Given the description of an element on the screen output the (x, y) to click on. 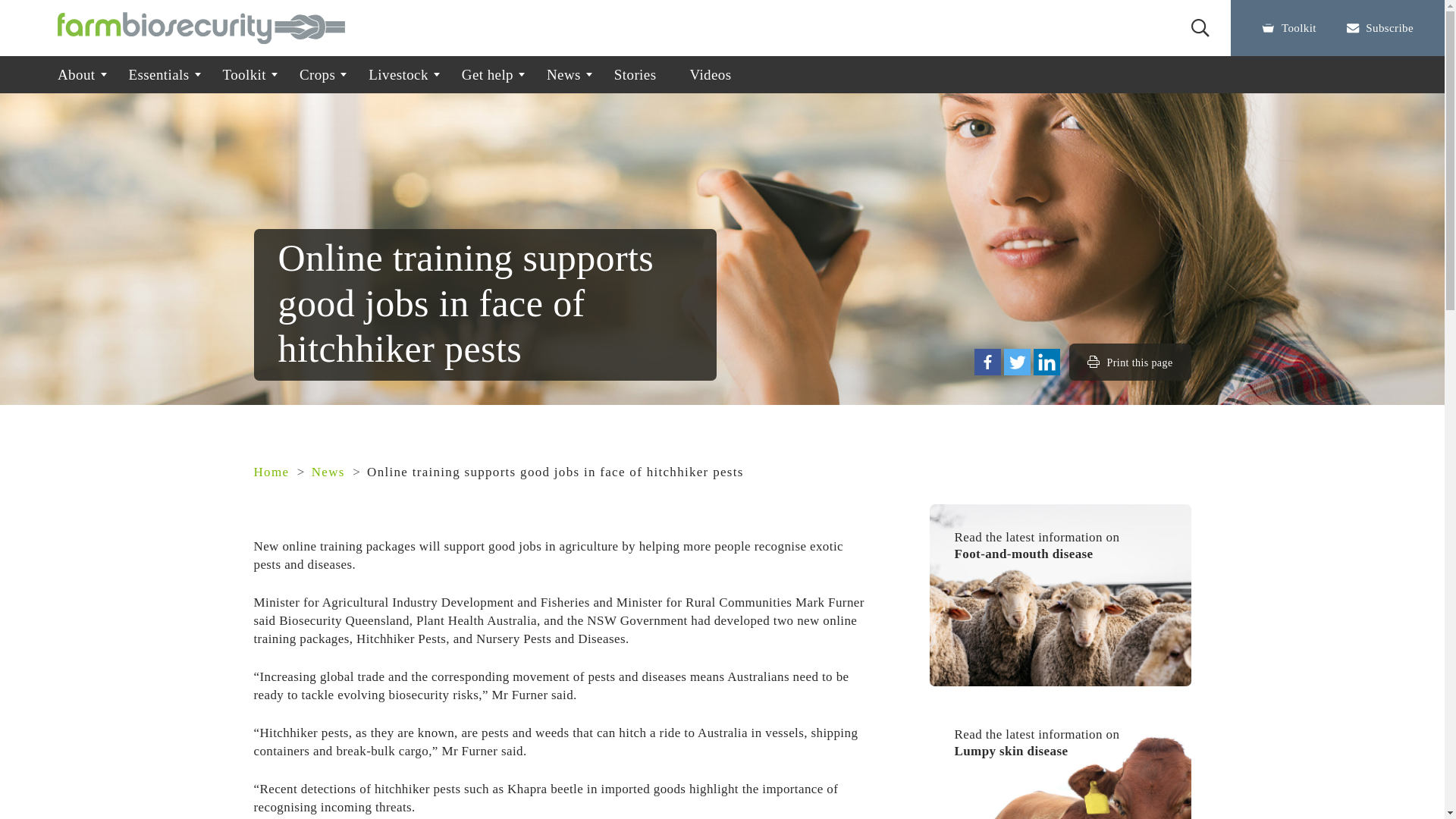
Facebook (987, 361)
Toolkit (1289, 27)
About (76, 74)
Twitter (1017, 361)
Linkedin (1046, 361)
Essentials (159, 74)
farmbiosecurity-logo (201, 28)
Subscribe (1379, 27)
Toolkit (244, 74)
Crops (317, 74)
